Given the description of an element on the screen output the (x, y) to click on. 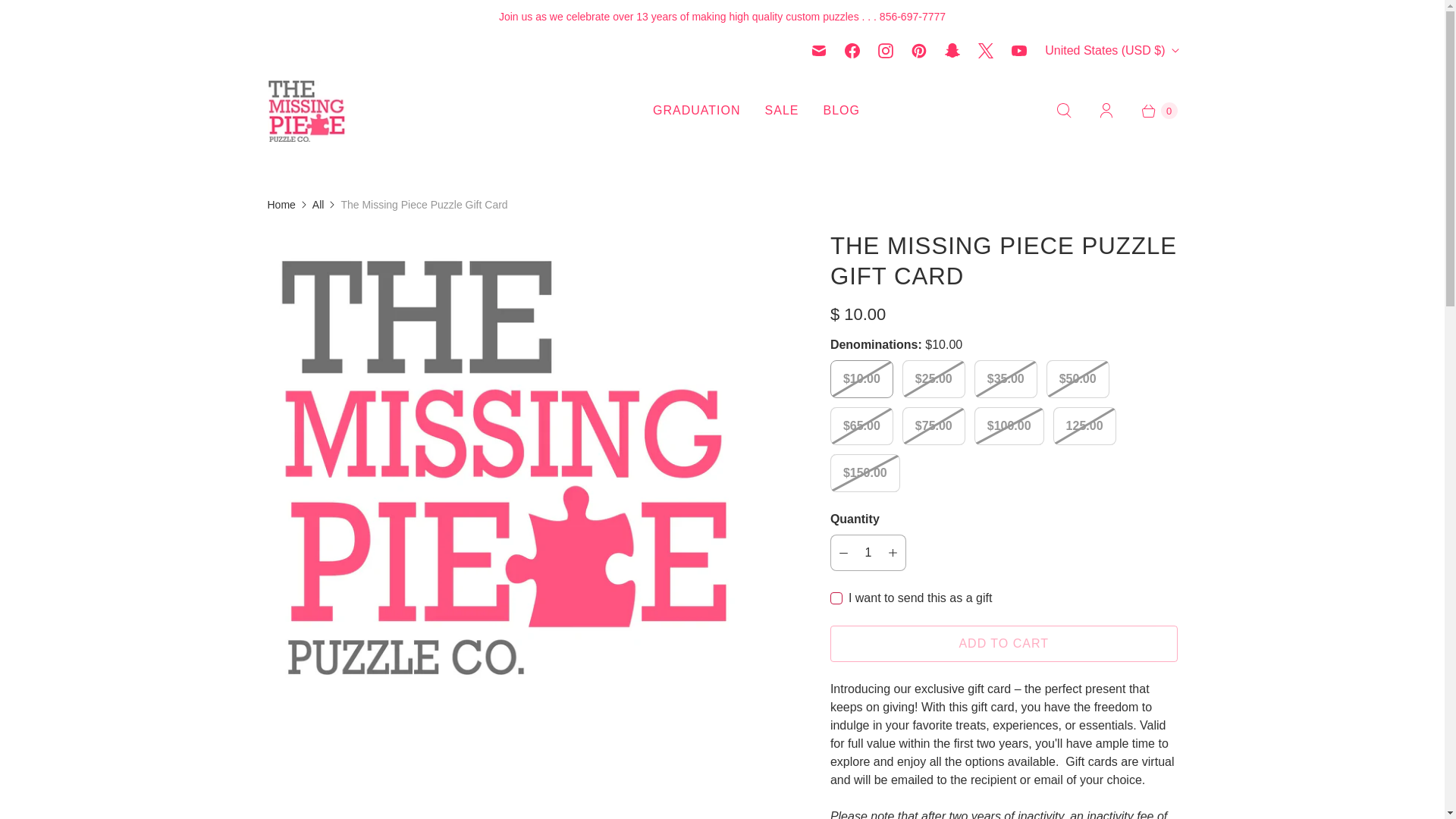
on (836, 598)
